Given the description of an element on the screen output the (x, y) to click on. 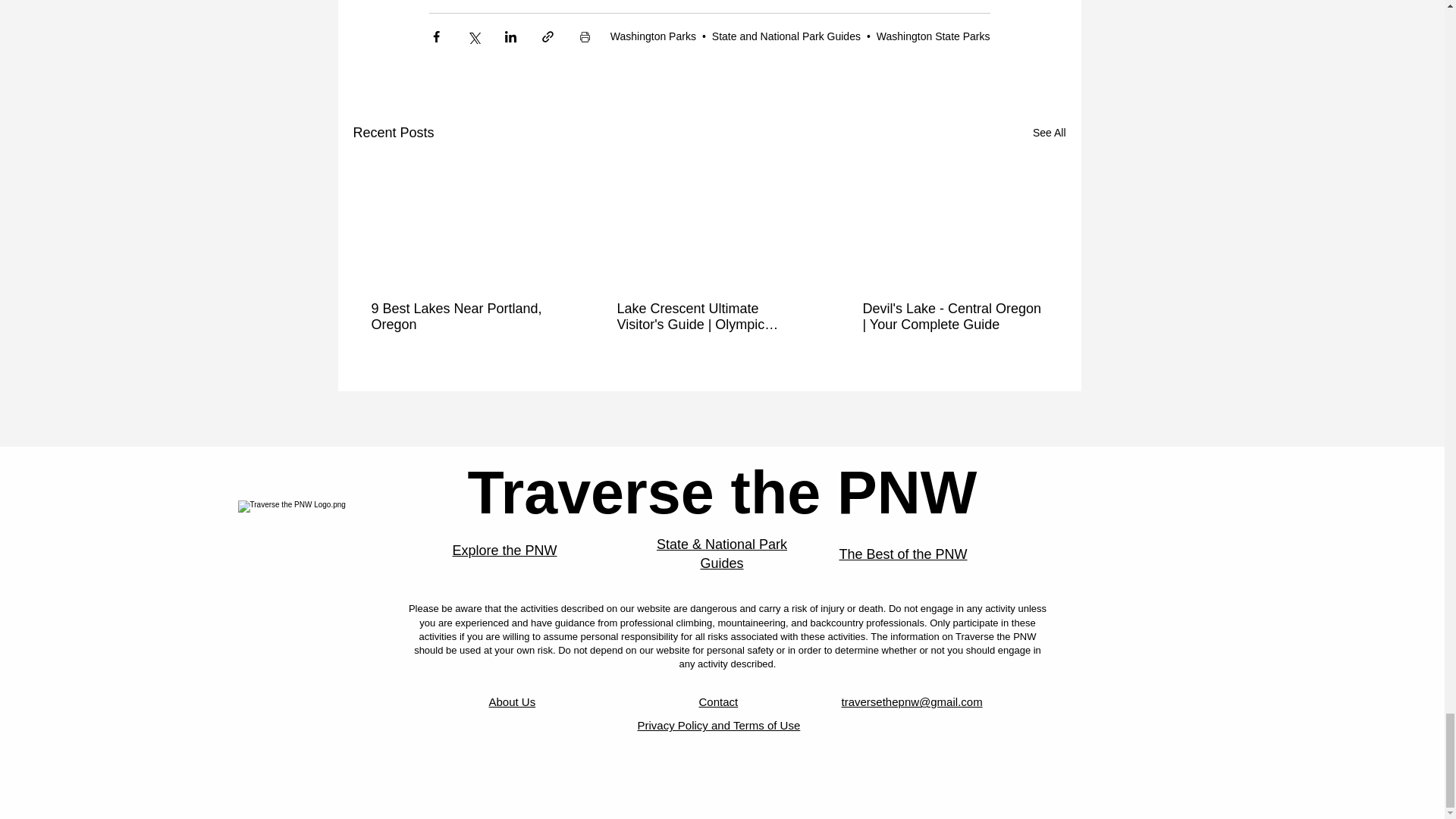
9 Best Lakes Near Portland, Oregon (462, 316)
Washington State Parks (933, 36)
See All (1048, 133)
State and National Park Guides (785, 36)
Washington Parks (652, 36)
